Given the description of an element on the screen output the (x, y) to click on. 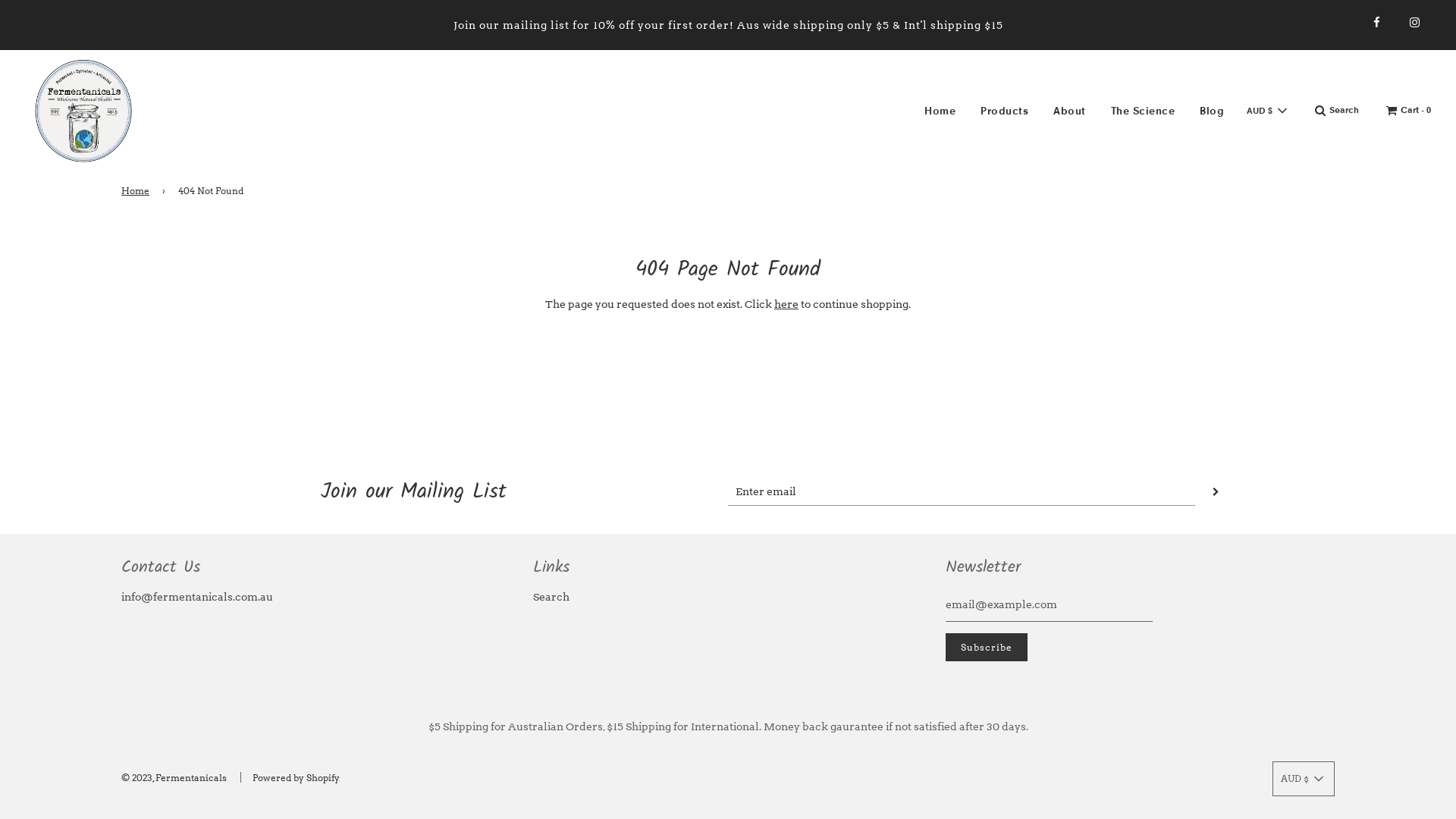
Products Element type: text (1004, 110)
AUD $ Element type: text (1303, 778)
Search Element type: text (551, 596)
About Element type: text (1069, 110)
Home Element type: text (939, 110)
Powered by Shopify Element type: text (295, 777)
Blog Element type: text (1211, 110)
The Science Element type: text (1142, 110)
AUD $ Element type: text (1267, 110)
Cart - 0 Element type: text (1408, 110)
here Element type: text (786, 304)
Search Element type: text (1336, 110)
Subscribe Element type: text (986, 647)
Home Element type: text (137, 190)
